Given the description of an element on the screen output the (x, y) to click on. 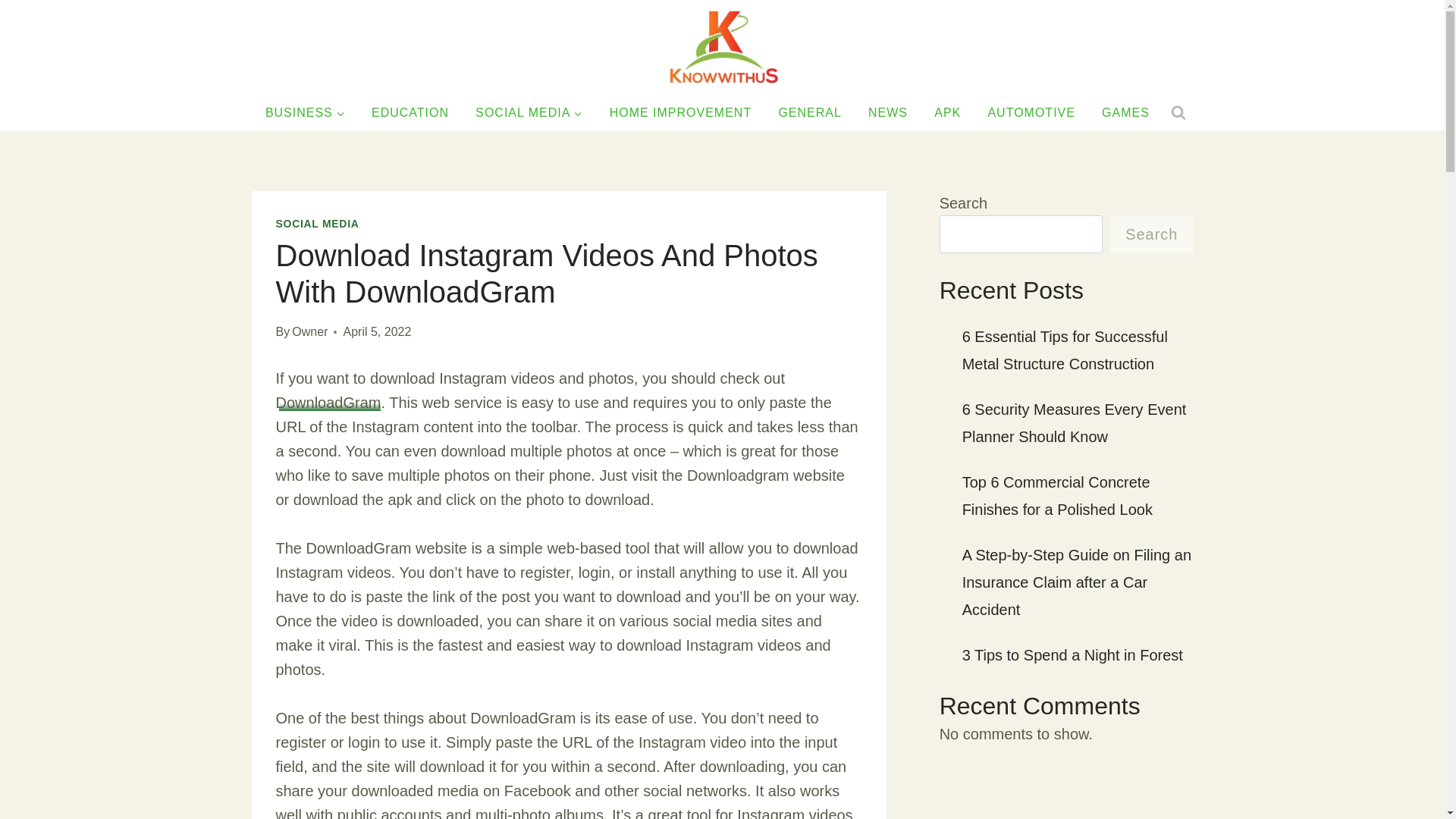
GENERAL (810, 113)
APK (947, 113)
SOCIAL MEDIA (529, 113)
Owner (309, 331)
HOME IMPROVEMENT (680, 113)
NEWS (887, 113)
GAMES (1126, 113)
BUSINESS (304, 113)
DownloadGram (328, 402)
SOCIAL MEDIA (317, 223)
